Given the description of an element on the screen output the (x, y) to click on. 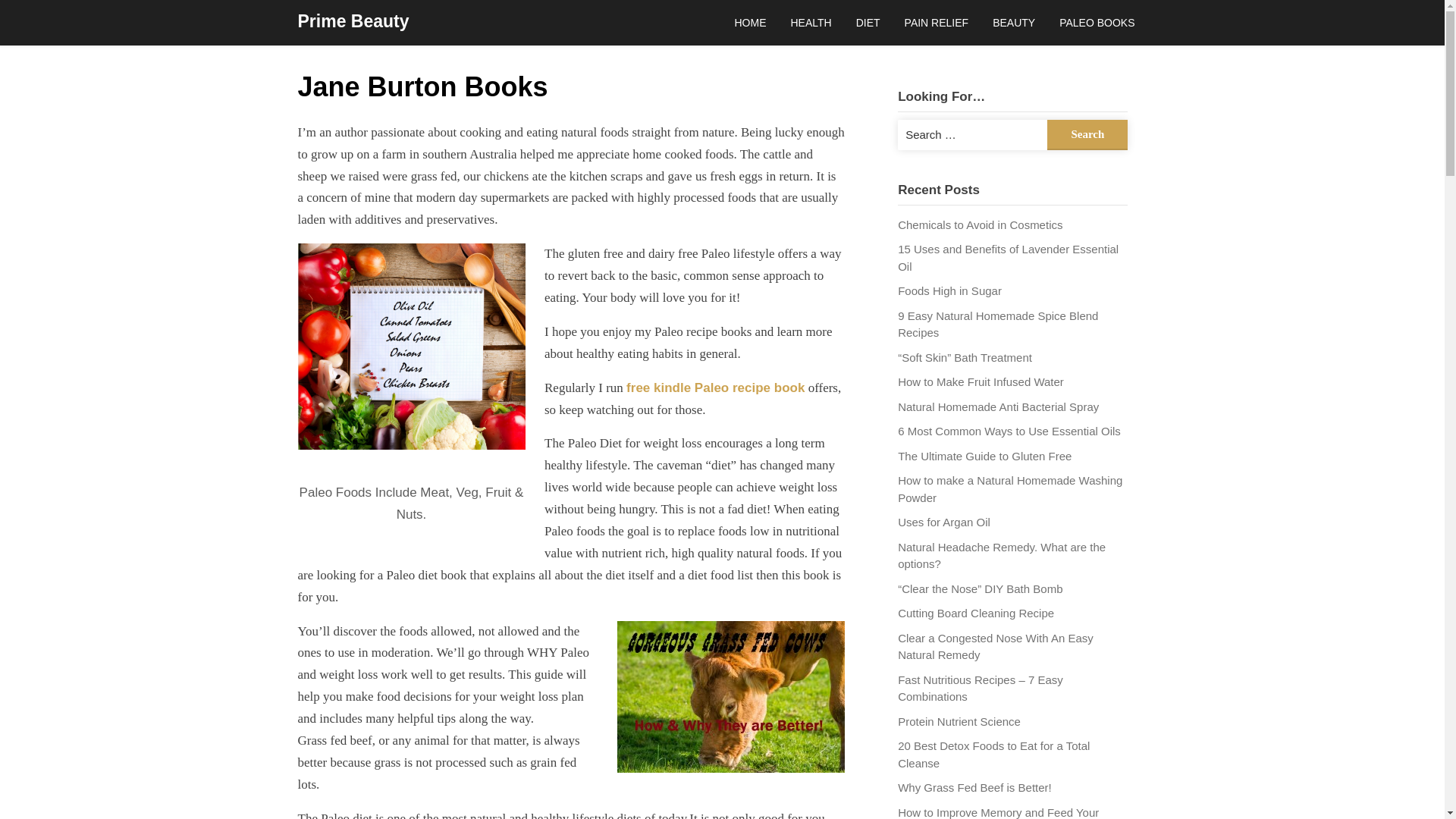
DIET (868, 22)
Foods High in Sugar (949, 290)
How to Improve Memory and Feed Your Brain (998, 812)
How to Make Fruit Infused Water (981, 381)
Search (1086, 134)
PAIN RELIEF (936, 22)
Cutting Board Cleaning Recipe (976, 612)
PALEO BOOKS (1096, 22)
The Ultimate Guide to Gluten Free (984, 455)
9 Easy Natural Homemade Spice Blend Recipes (997, 324)
Search (1086, 134)
How to make a Natural Homemade Washing Powder (1010, 489)
HEALTH (810, 22)
20 Best Detox Foods to Eat for a Total Cleanse (993, 754)
Natural Headache Remedy. What are the options? (1001, 555)
